Given the description of an element on the screen output the (x, y) to click on. 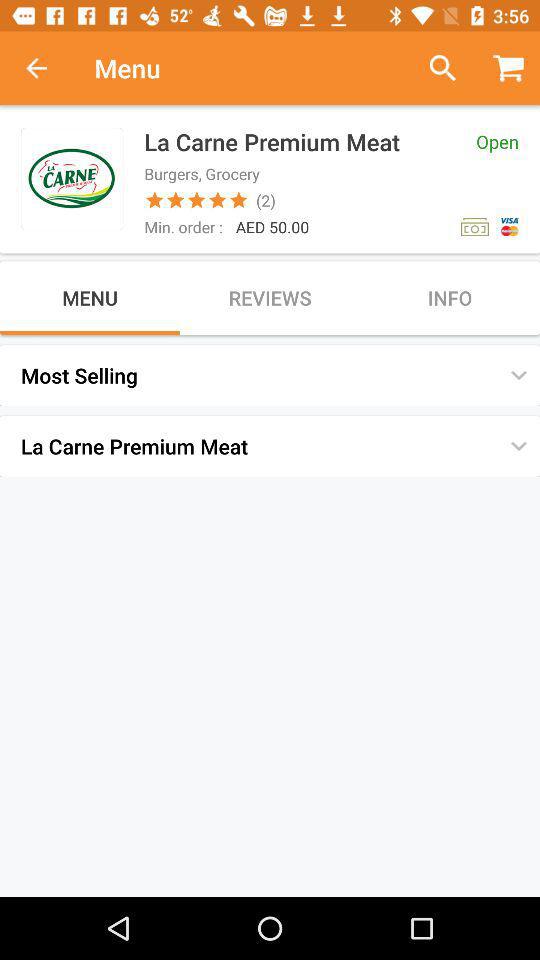
search (434, 68)
